Given the description of an element on the screen output the (x, y) to click on. 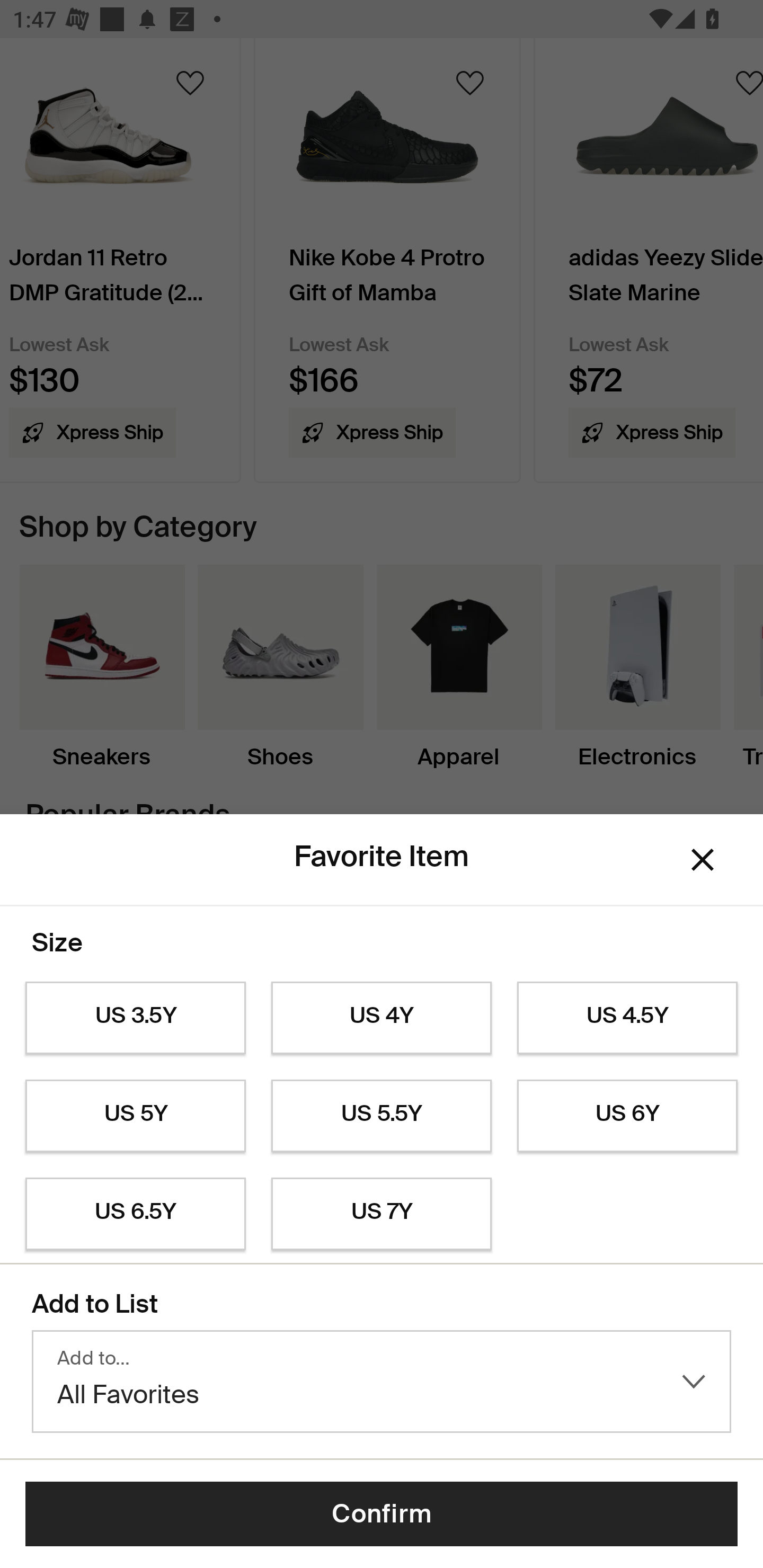
Dismiss (702, 859)
US 3.5Y (135, 1018)
US 4Y (381, 1018)
US 4.5Y (627, 1018)
US 5Y (135, 1116)
US 5.5Y (381, 1116)
US 6Y (627, 1116)
US 6.5Y (135, 1214)
US 7Y (381, 1214)
Add to… All Favorites (381, 1381)
Confirm (381, 1513)
